Given the description of an element on the screen output the (x, y) to click on. 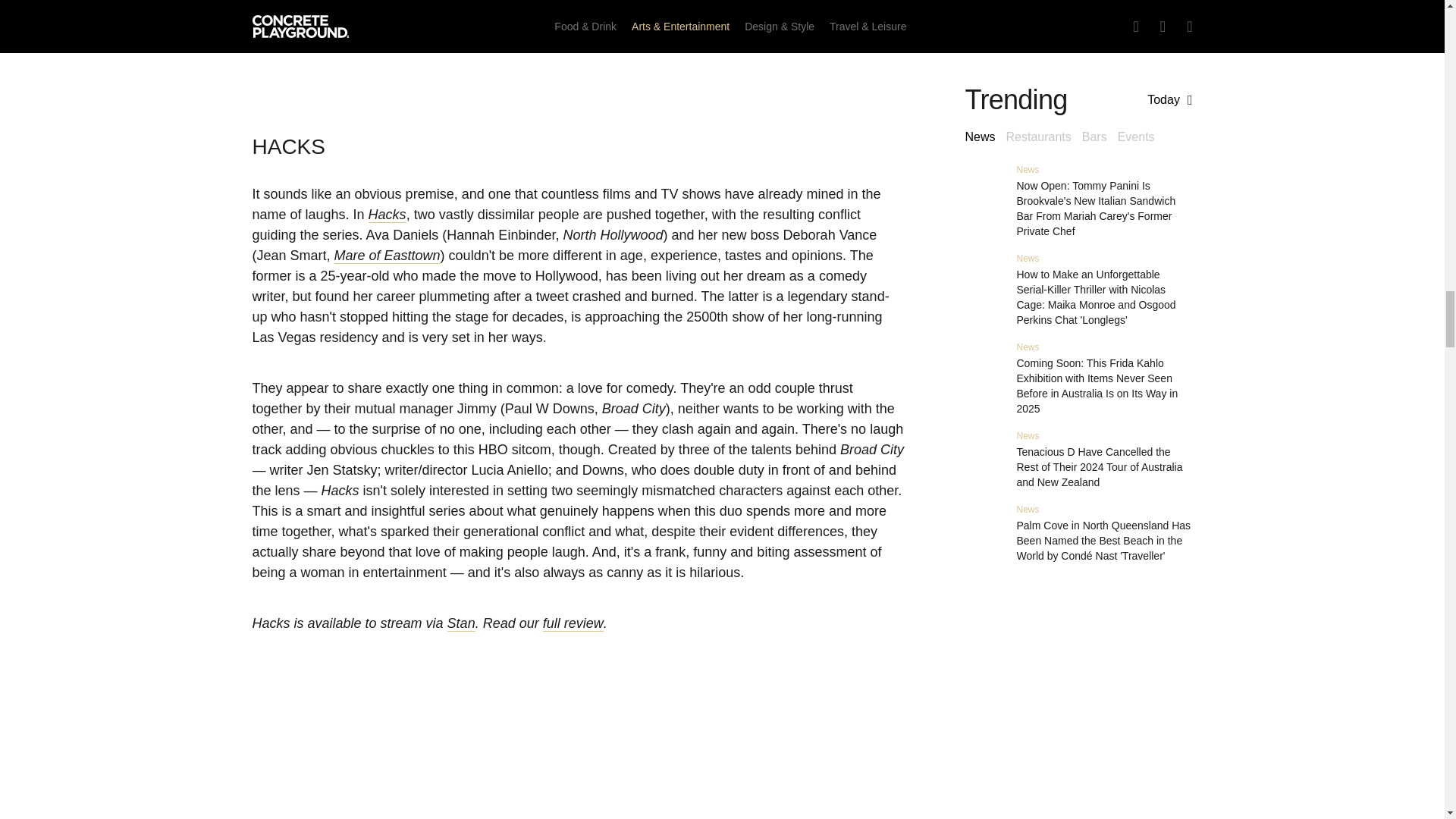
YouTube video player (577, 47)
YouTube video player (577, 757)
